Given the description of an element on the screen output the (x, y) to click on. 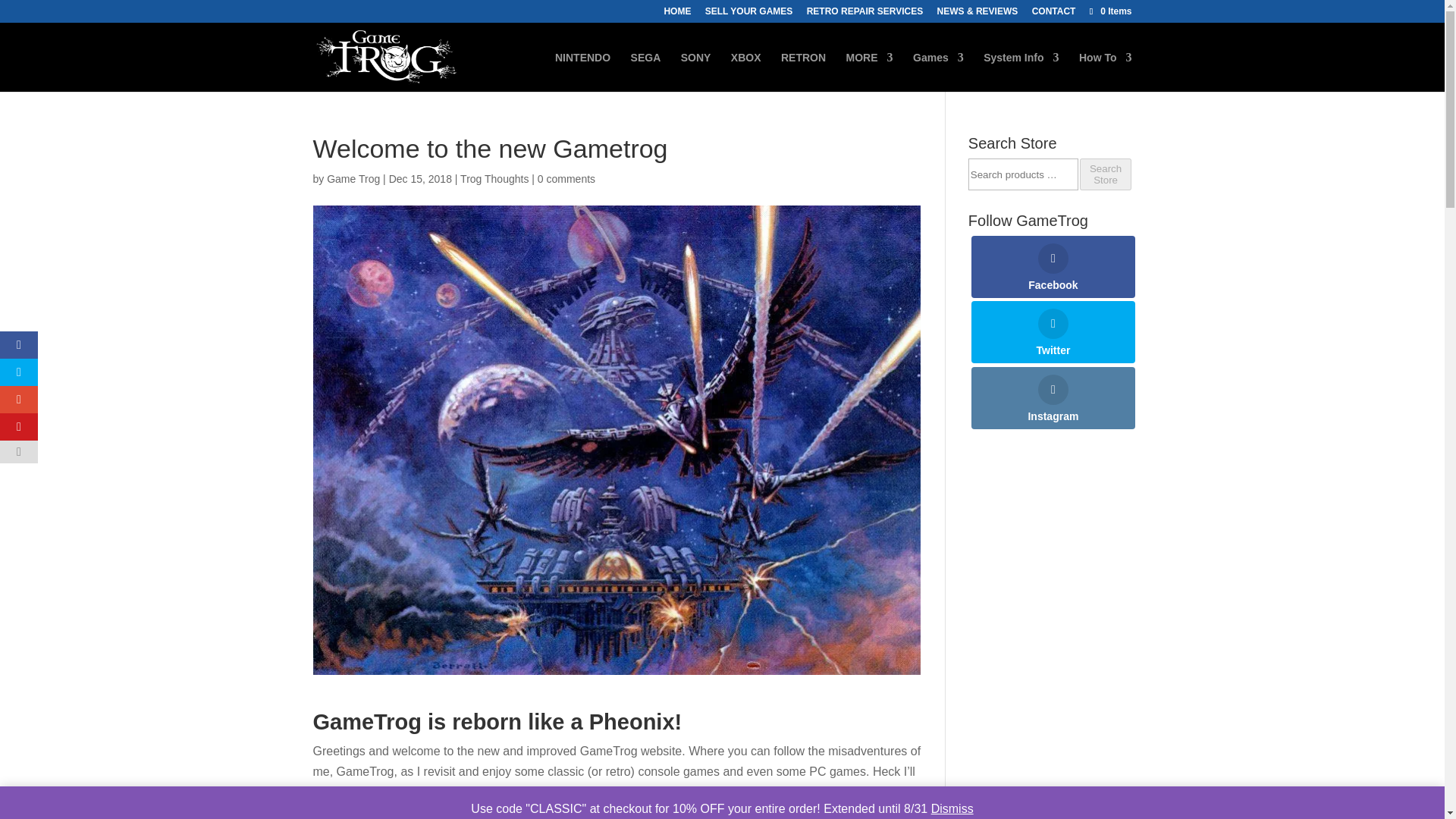
HOME (676, 14)
Games (937, 71)
CONTACT (1053, 14)
MORE (869, 71)
RETRON (802, 71)
SELL YOUR GAMES (748, 14)
System Info (1021, 71)
How To (1105, 71)
RETRO REPAIR SERVICES (864, 14)
NINTENDO (582, 71)
0 Items (1108, 10)
Posts by Game Trog (353, 178)
